Given the description of an element on the screen output the (x, y) to click on. 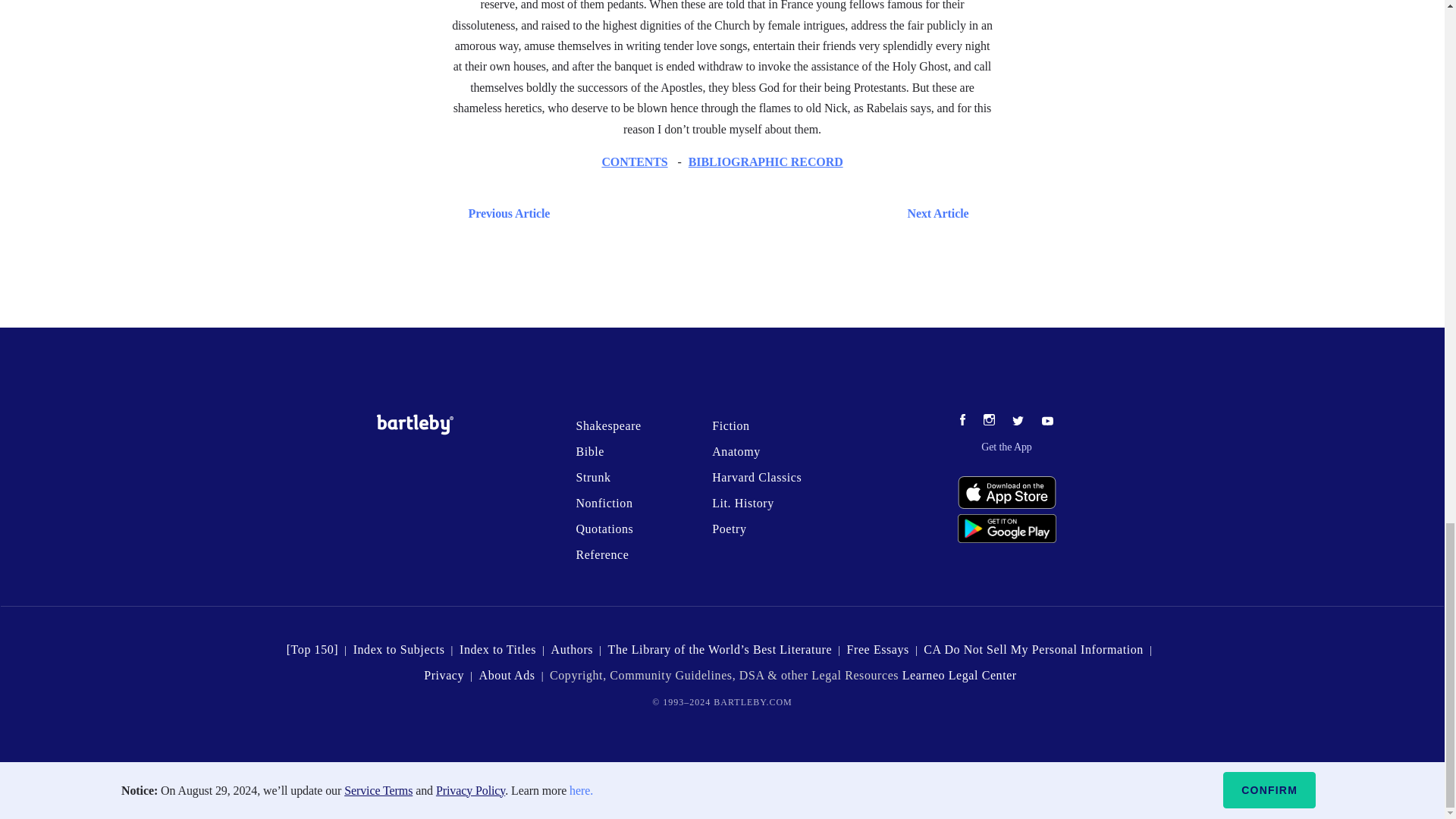
Shakespeare (607, 425)
CONTENTS (633, 161)
Fiction (730, 425)
Reference (601, 554)
BIBLIOGRAPHIC RECORD (765, 161)
Strunk (592, 477)
Harvard Classics (756, 477)
Bible (589, 451)
Lit. History (742, 502)
Previous Article (505, 213)
Anatomy (735, 451)
Nonfiction (603, 502)
Poetry (728, 528)
Quotations (604, 528)
Next Article (766, 213)
